Given the description of an element on the screen output the (x, y) to click on. 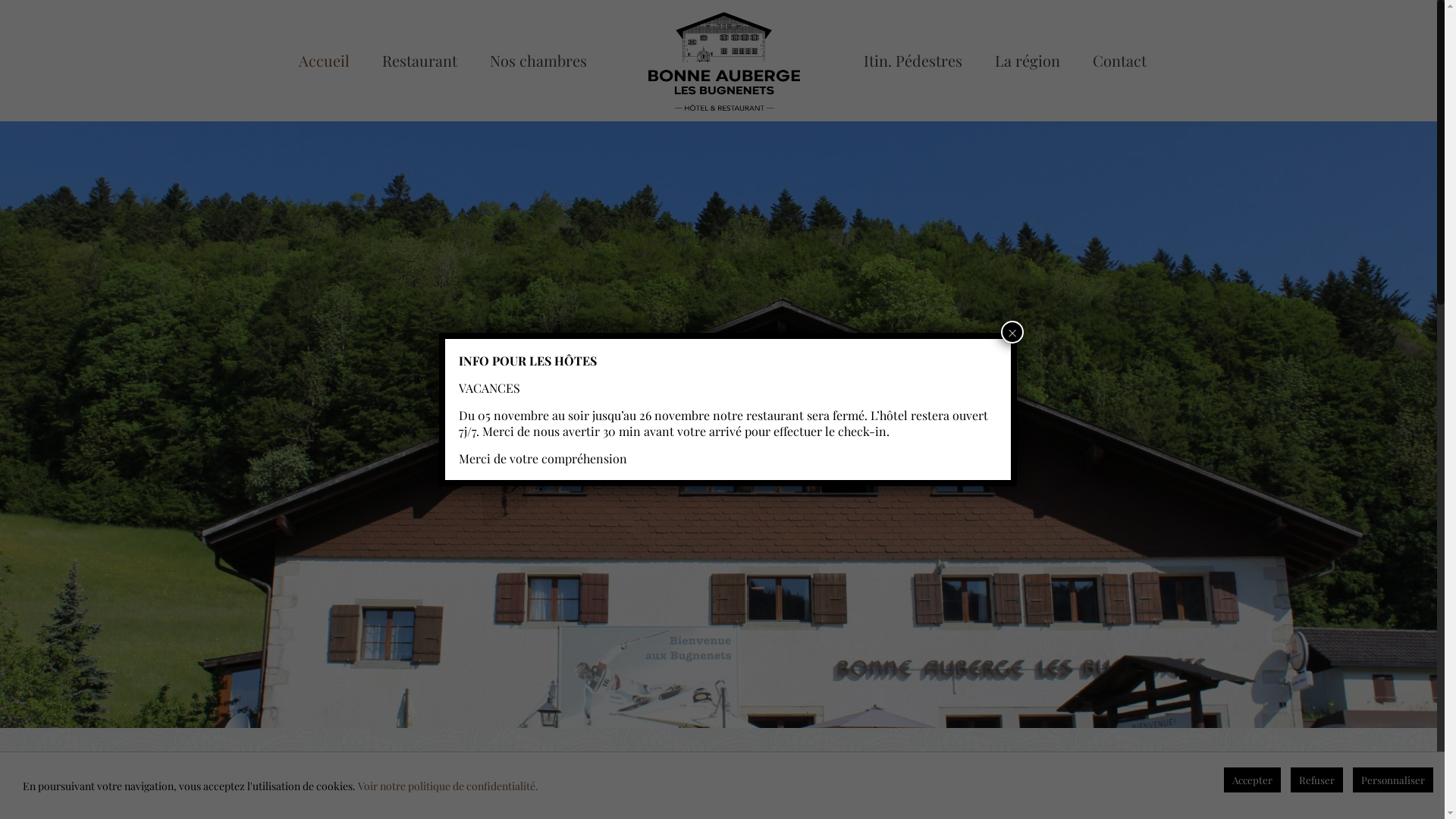
Contact Element type: text (1119, 60)
Restaurant Element type: text (419, 60)
Nos chambres Element type: text (538, 60)
Auberge Les Bugnes Element type: hover (724, 60)
Accepter Element type: text (1251, 779)
Personnaliser Element type: text (1392, 779)
Refuser Element type: text (1316, 779)
Accueil Element type: text (323, 60)
